Given the description of an element on the screen output the (x, y) to click on. 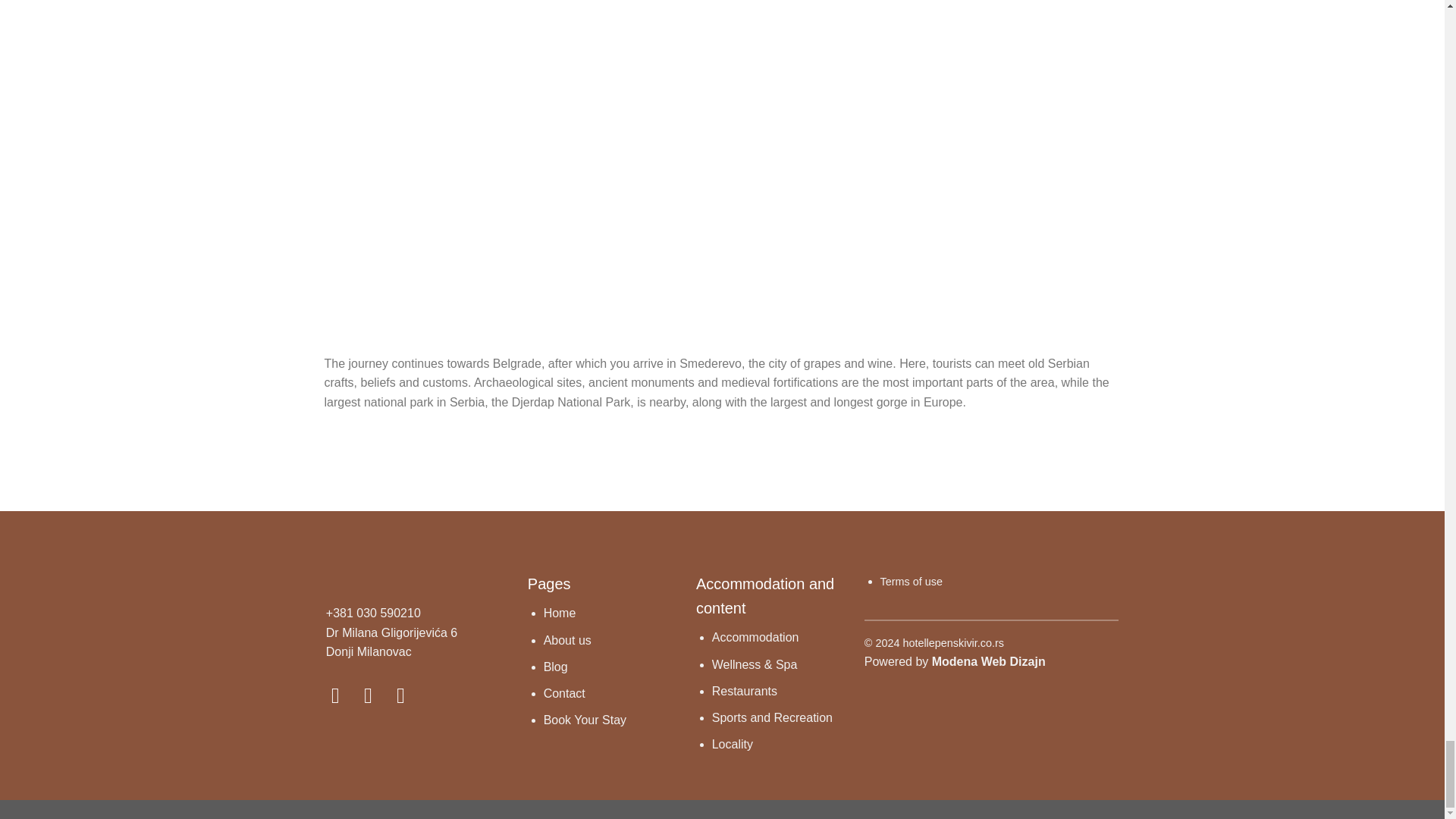
Book Your Stay (584, 719)
Sports and Recreation (771, 717)
Restaurants (744, 690)
About us (567, 640)
Follow on Facebook (342, 695)
Blog (555, 666)
Terms of use (911, 581)
Accommodation (755, 636)
Home (559, 612)
Modena Web Dizajn (988, 661)
Follow on Instagram (374, 695)
Follow on YouTube (407, 695)
Locality (731, 744)
Contact (564, 693)
